Given the description of an element on the screen output the (x, y) to click on. 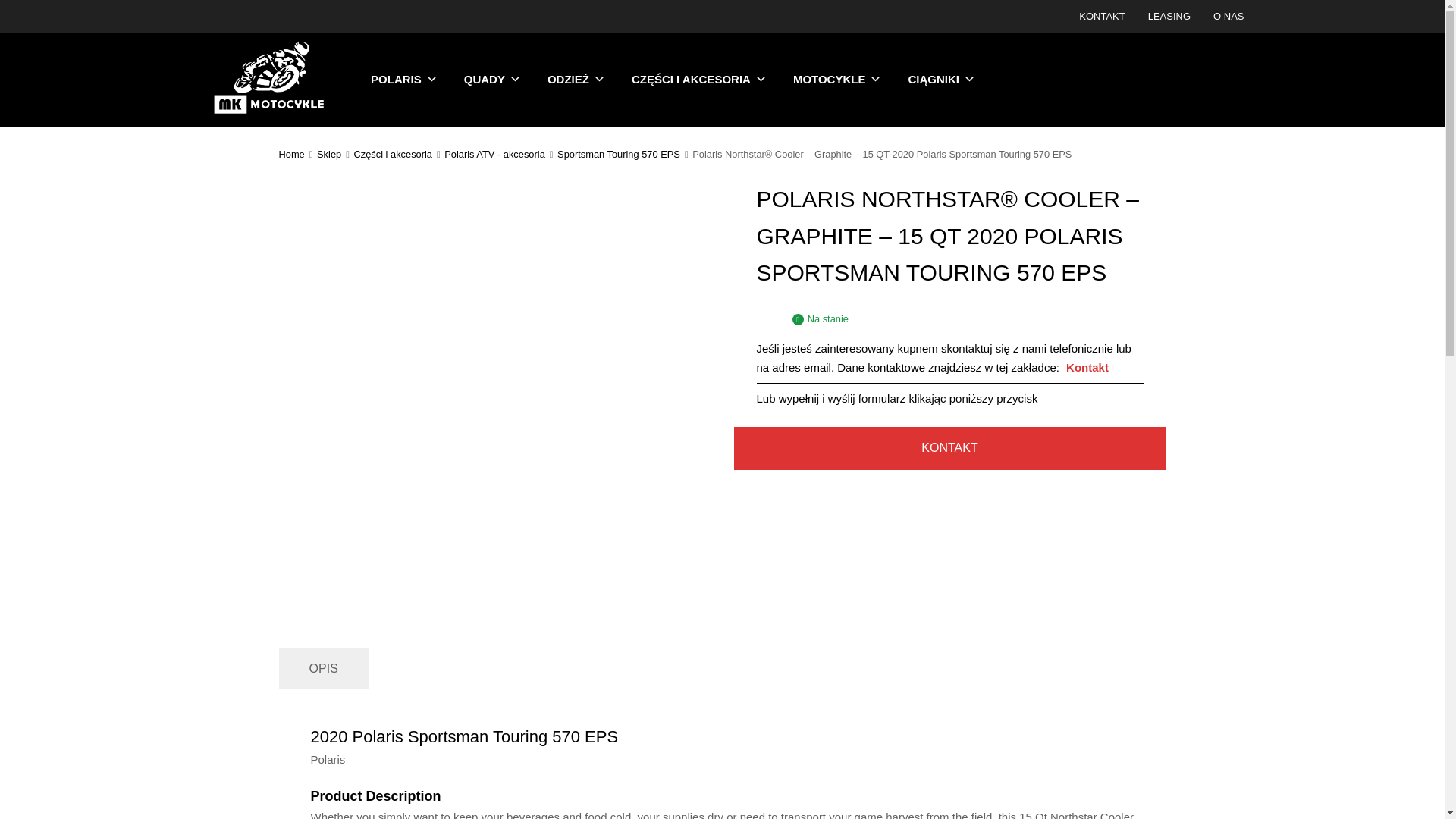
QUADY (492, 79)
Kontakt (1086, 367)
KONTAKT (1101, 16)
POLARIS (403, 79)
LEASING (1169, 16)
O NAS (1227, 16)
